Given the description of an element on the screen output the (x, y) to click on. 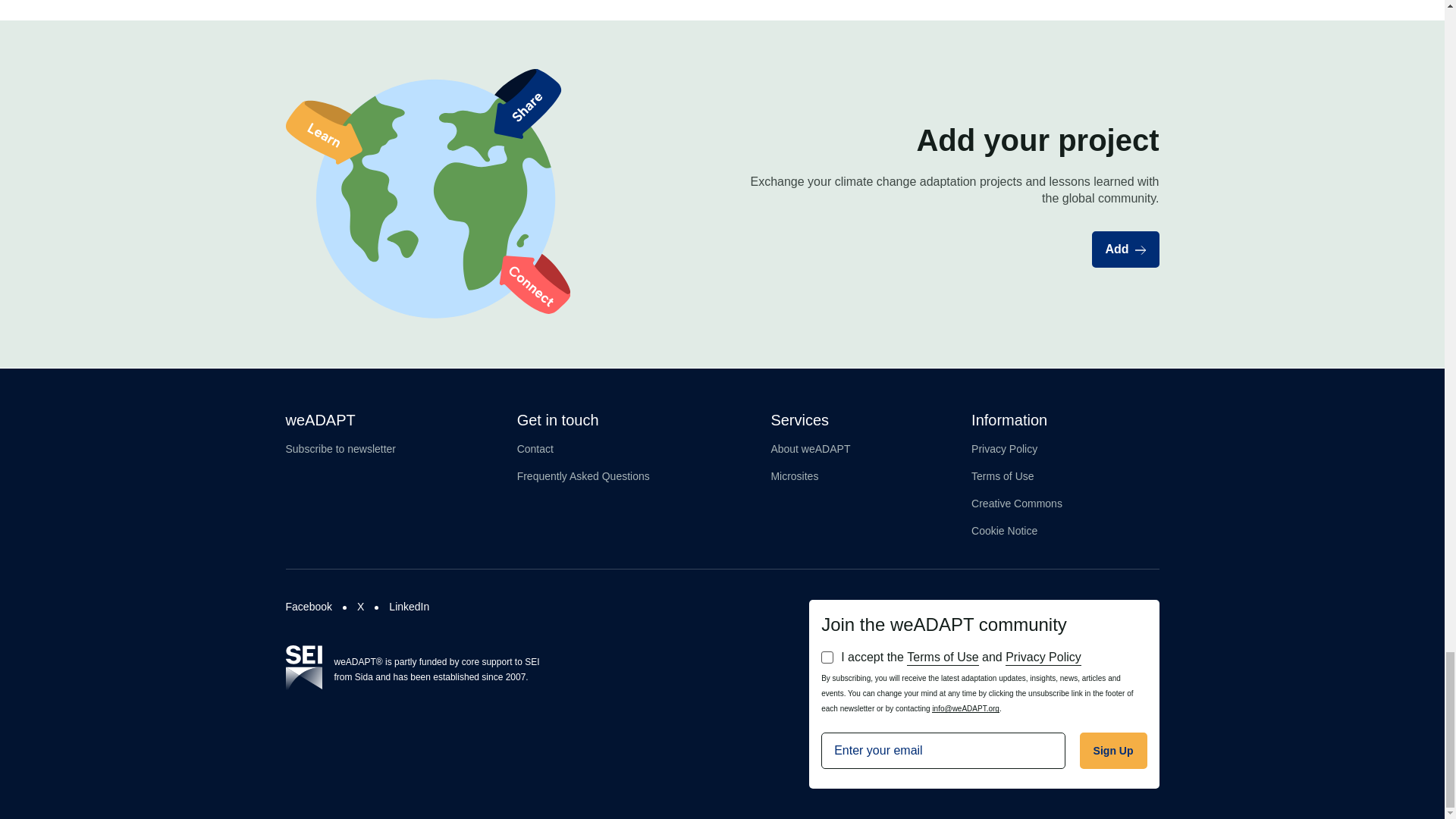
1 (826, 657)
Sign Up (1113, 750)
